Given the description of an element on the screen output the (x, y) to click on. 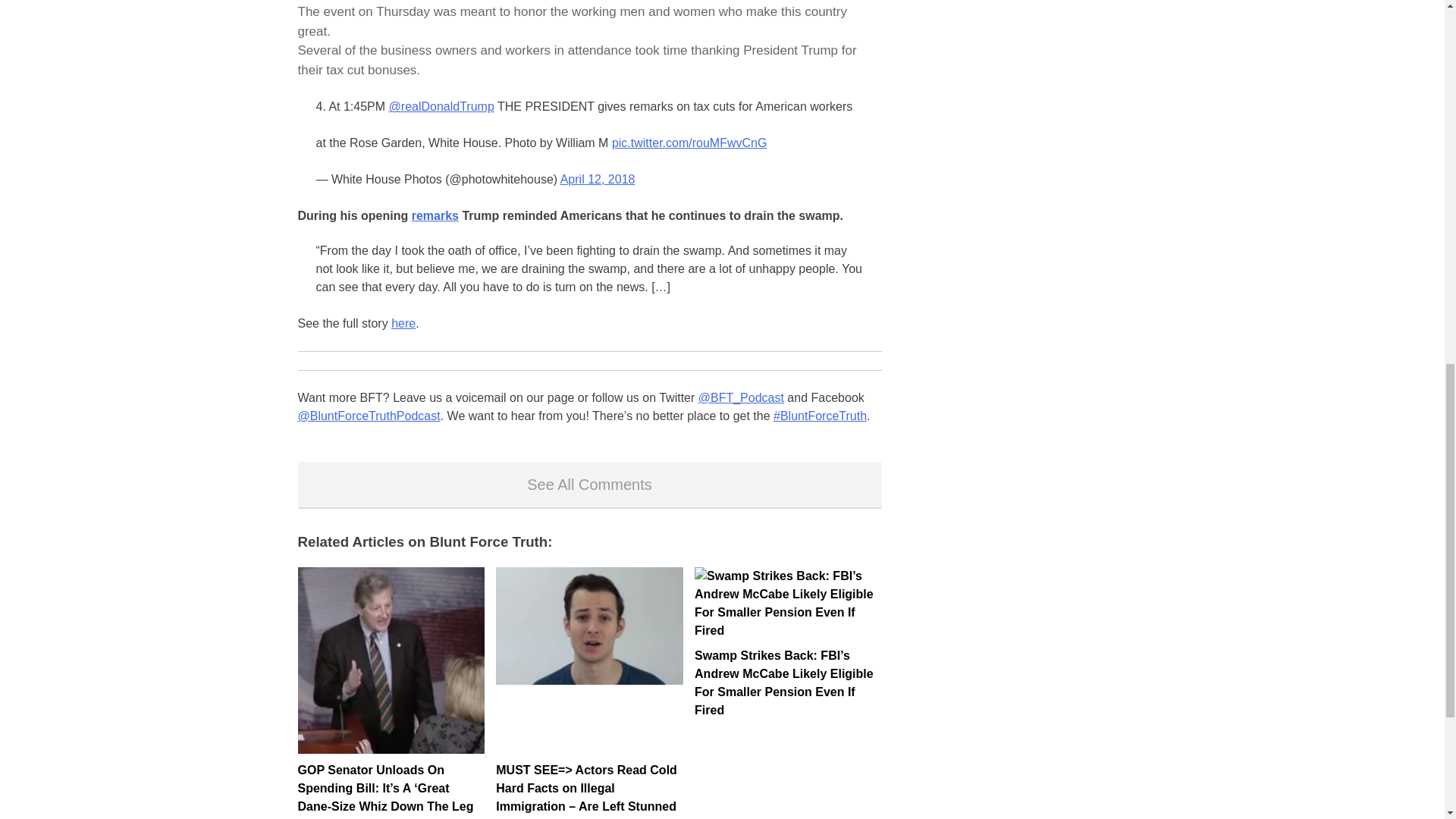
See All Comments (588, 483)
April 12, 2018 (597, 178)
remarks (435, 215)
here (402, 323)
